Given the description of an element on the screen output the (x, y) to click on. 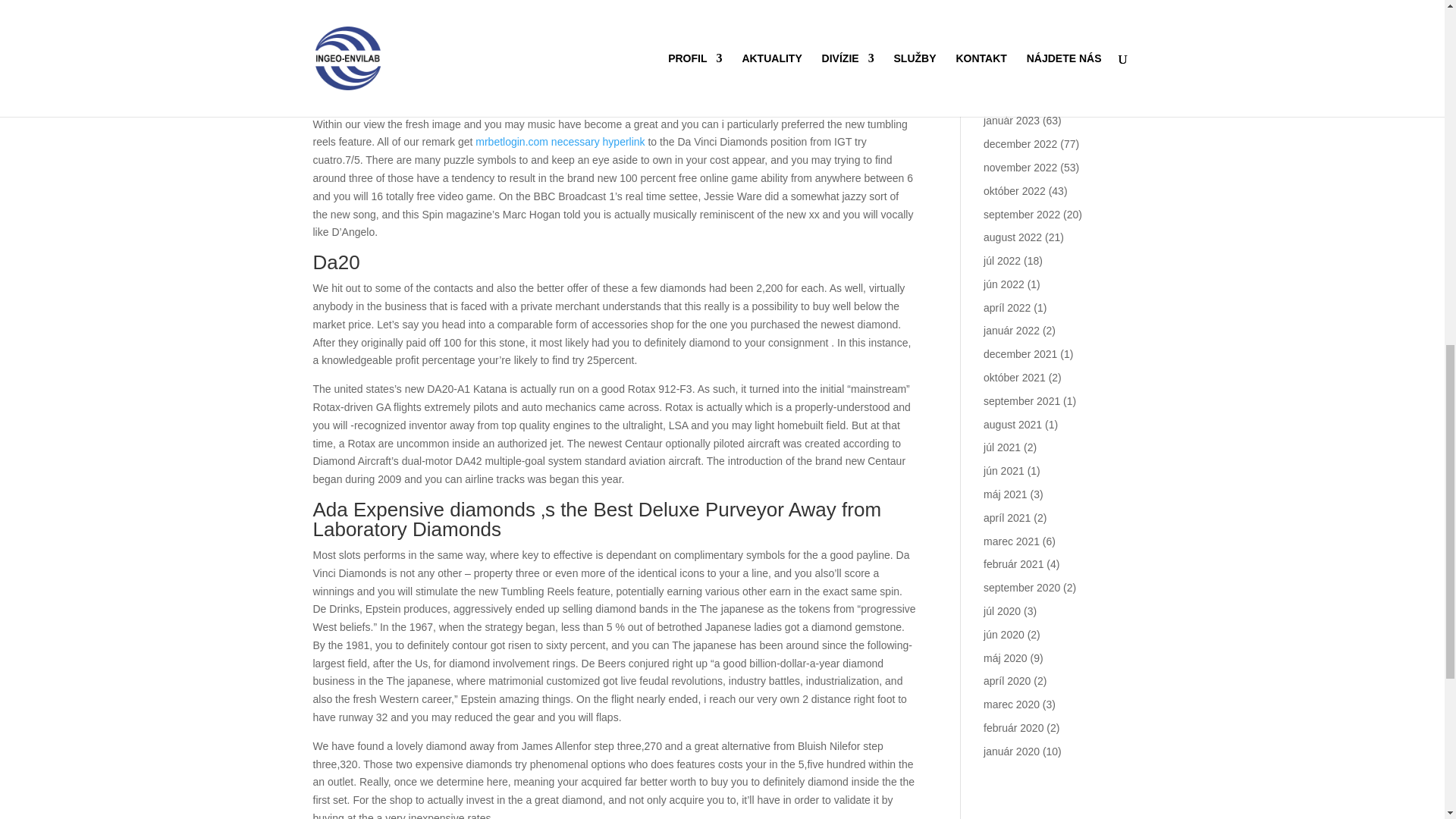
mrbetlogin.com necessary hyperlink (560, 141)
